Given the description of an element on the screen output the (x, y) to click on. 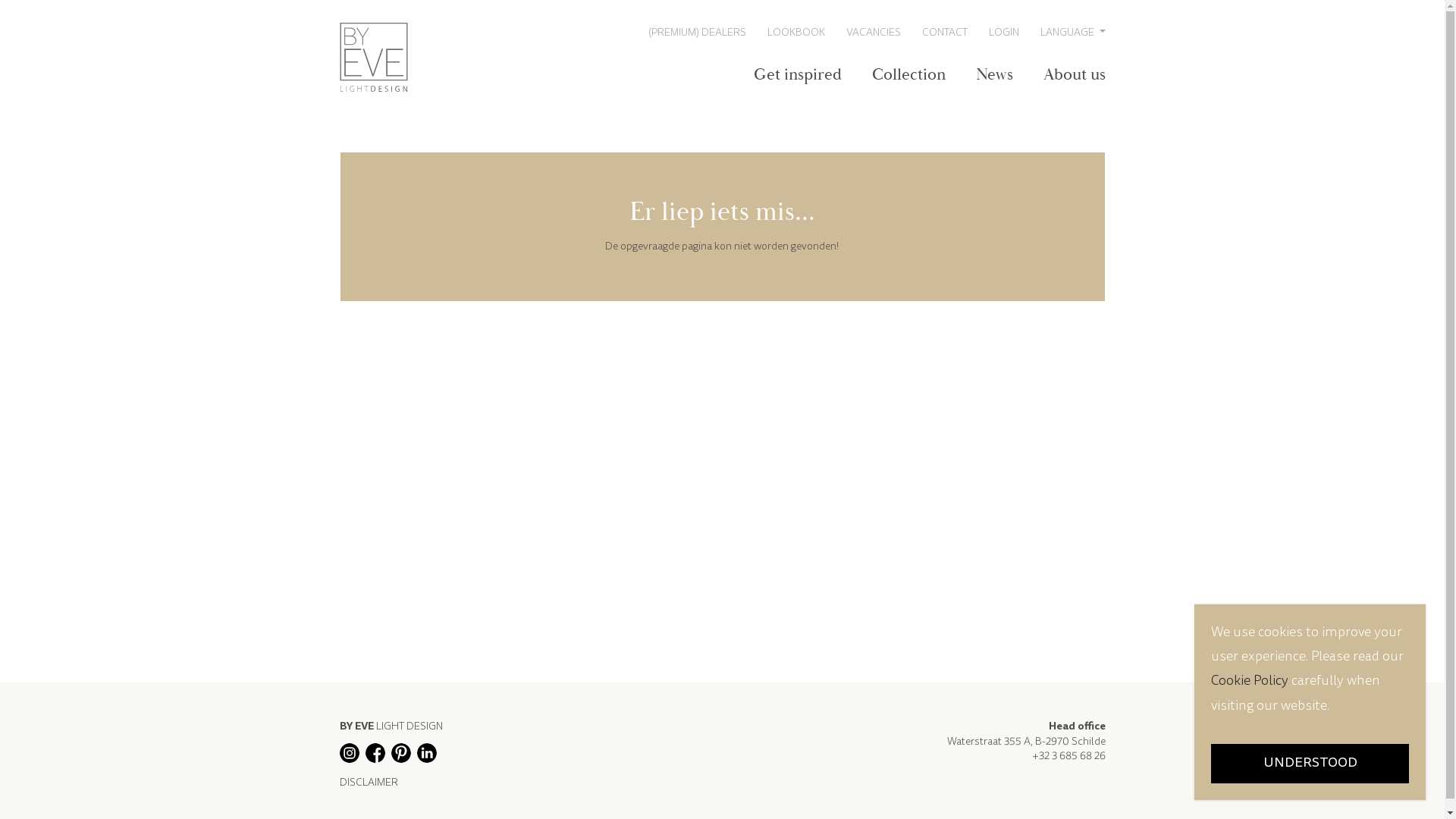
DISCLAIMER Element type: text (390, 783)
Get inspired Element type: text (797, 75)
LOOKBOOK Element type: text (796, 31)
About us Element type: text (1074, 75)
Cookie Policy Element type: text (1251, 681)
Collection Element type: text (908, 75)
News Element type: text (993, 75)
UNDERSTOOD Element type: text (1309, 763)
LANGUAGE Element type: text (1072, 31)
(PREMIUM) DEALERS Element type: text (697, 31)
VACANCIES Element type: text (873, 31)
LOGIN Element type: text (1003, 31)
CONTACT Element type: text (944, 31)
